Given the description of an element on the screen output the (x, y) to click on. 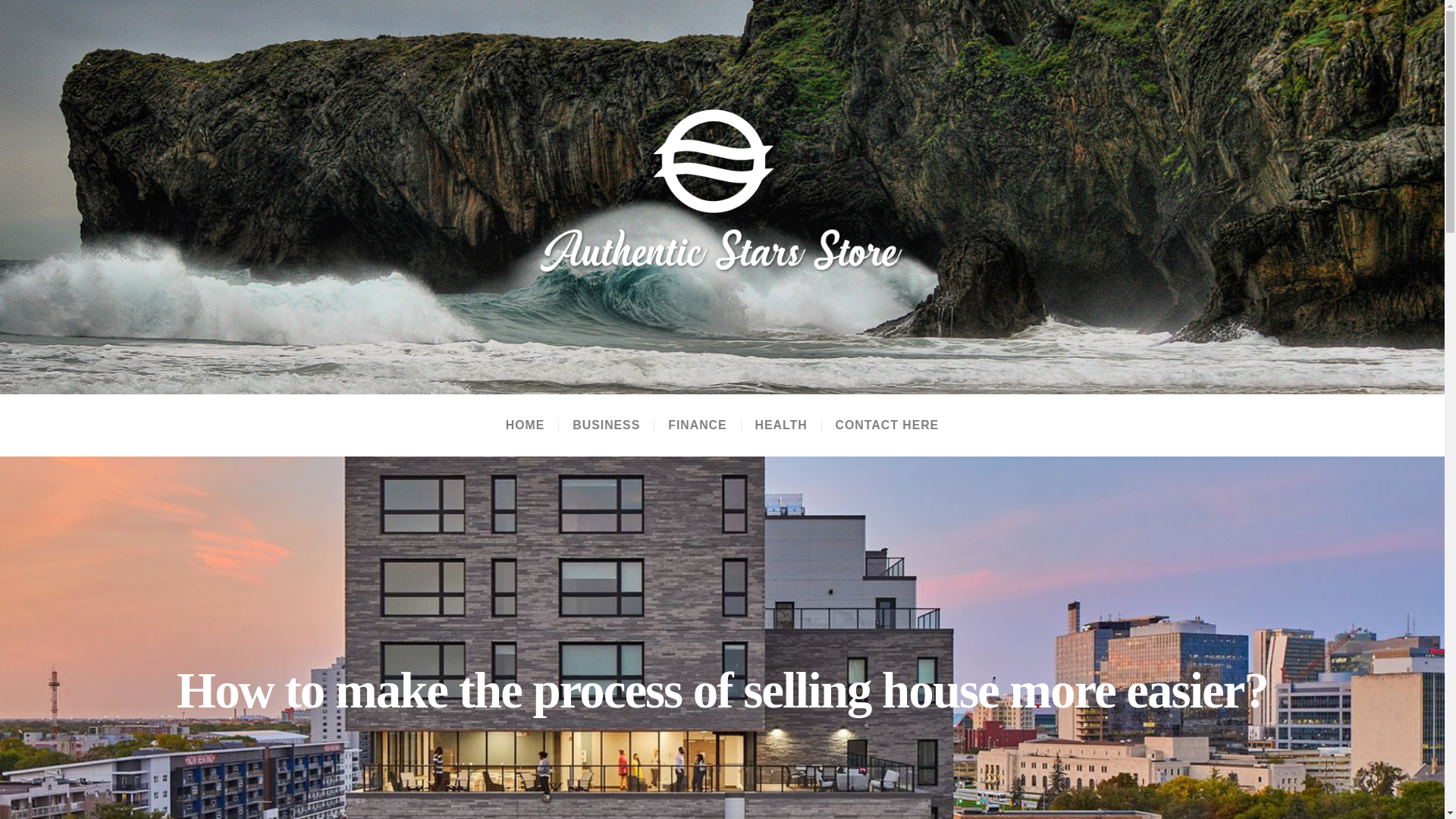
BUSINESS (605, 425)
HEALTH (781, 425)
HOME (525, 425)
FINANCE (696, 425)
CONTACT HERE (887, 425)
